Given the description of an element on the screen output the (x, y) to click on. 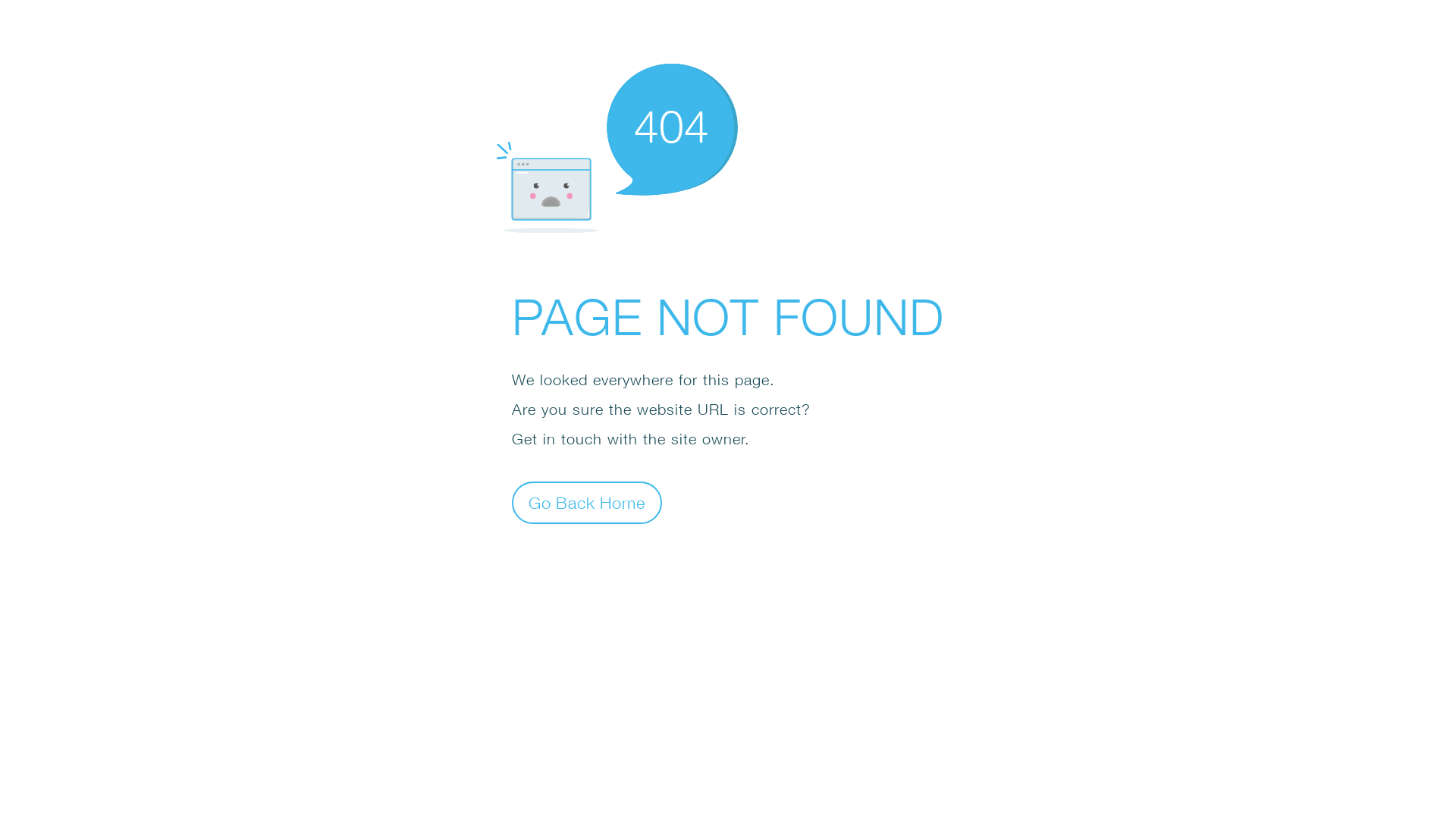
Go Back Home Element type: text (586, 502)
